Given the description of an element on the screen output the (x, y) to click on. 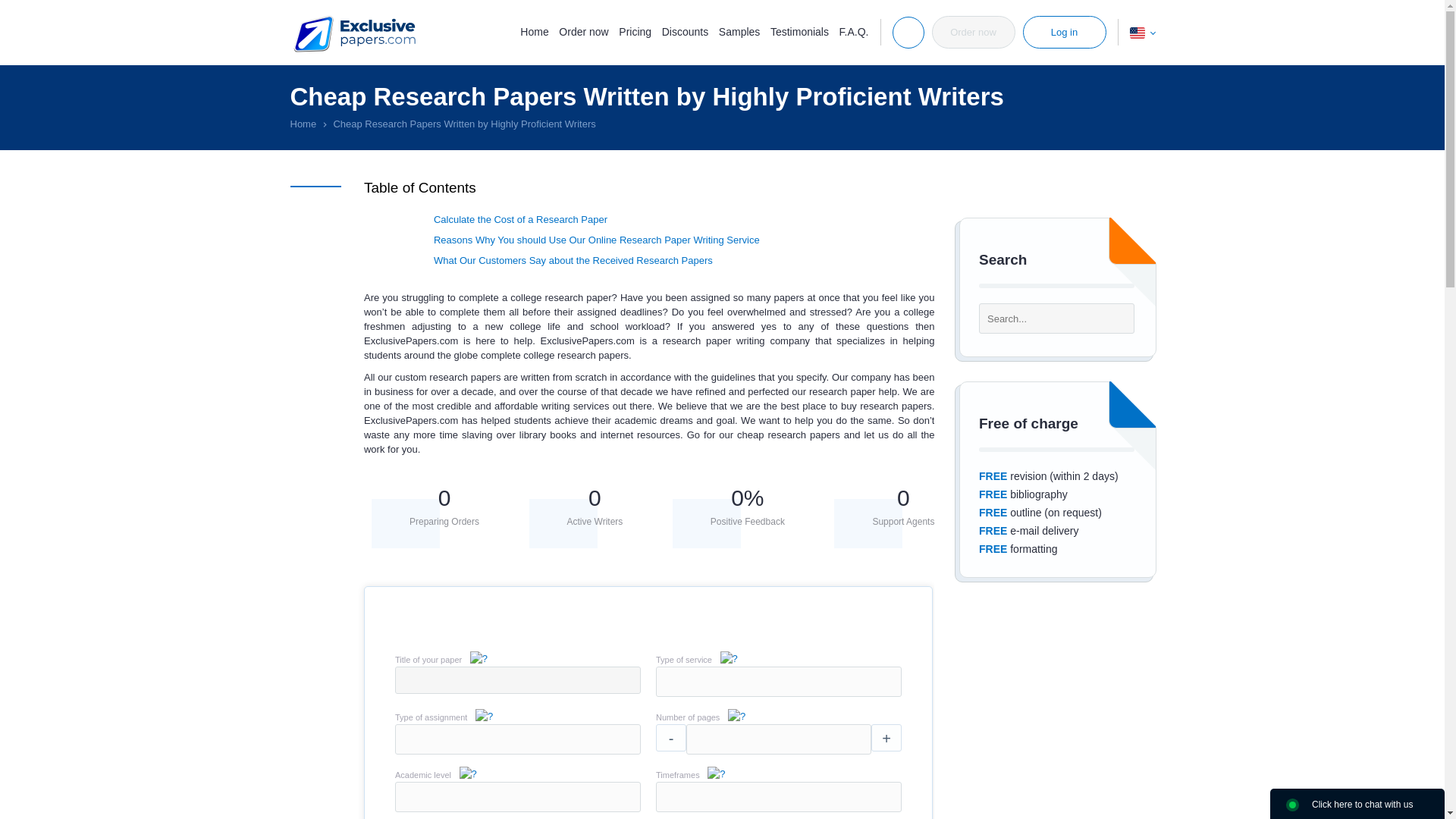
Pricing (634, 31)
What Our Customers Say about the Received Research Papers (573, 260)
Testimonials (799, 31)
F.A.Q. (854, 31)
Order now (972, 31)
Home (302, 123)
Calculate the Cost of a Research Paper (520, 219)
Home (533, 31)
Discounts (684, 31)
